Given the description of an element on the screen output the (x, y) to click on. 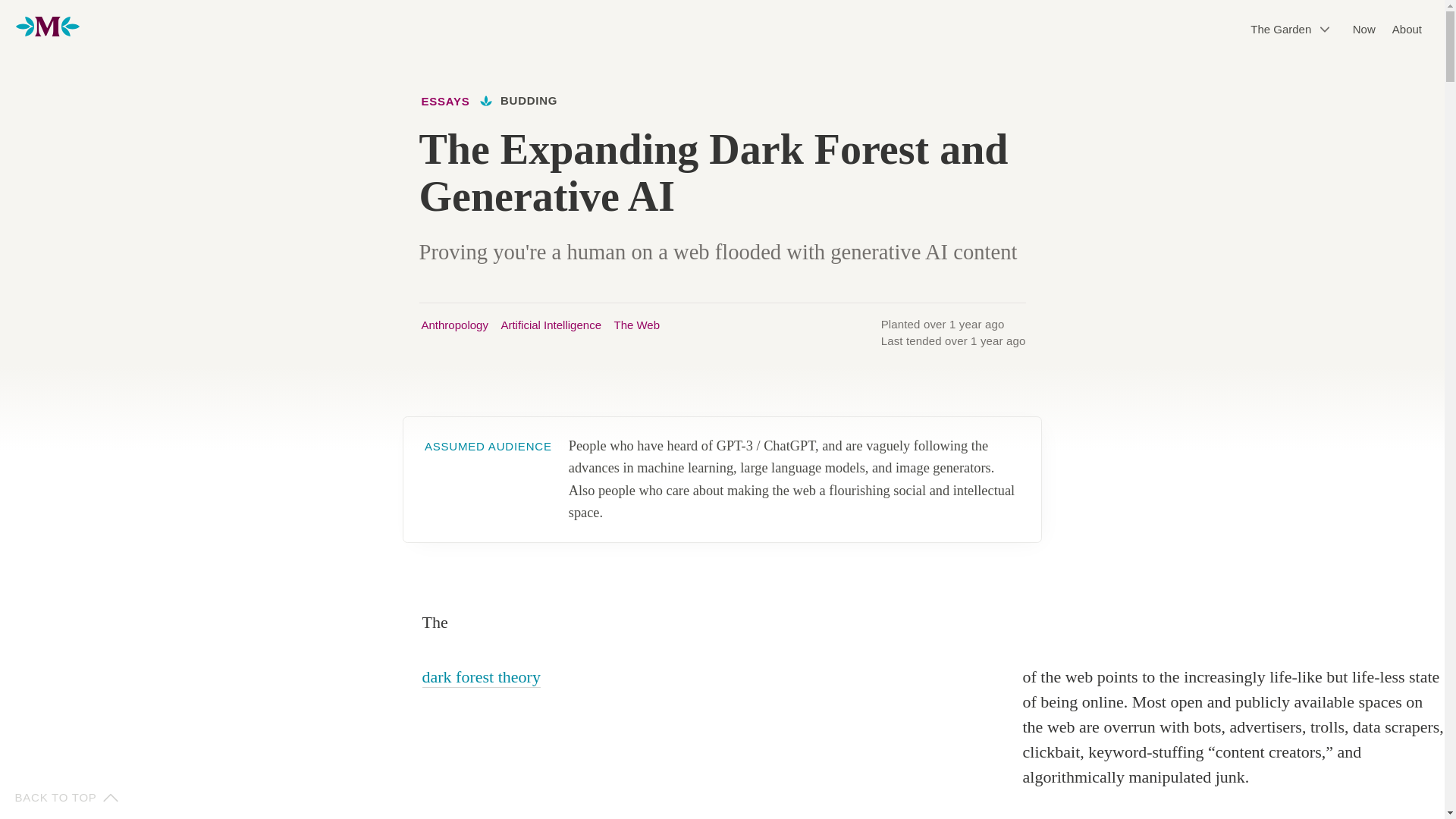
dark forest theory (481, 676)
Home (48, 28)
The Web (635, 326)
ESSAYS (451, 101)
BACK TO TOP (65, 797)
About (1406, 30)
Now (1363, 30)
Anthropology (454, 326)
Artificial Intelligence (550, 326)
